Given the description of an element on the screen output the (x, y) to click on. 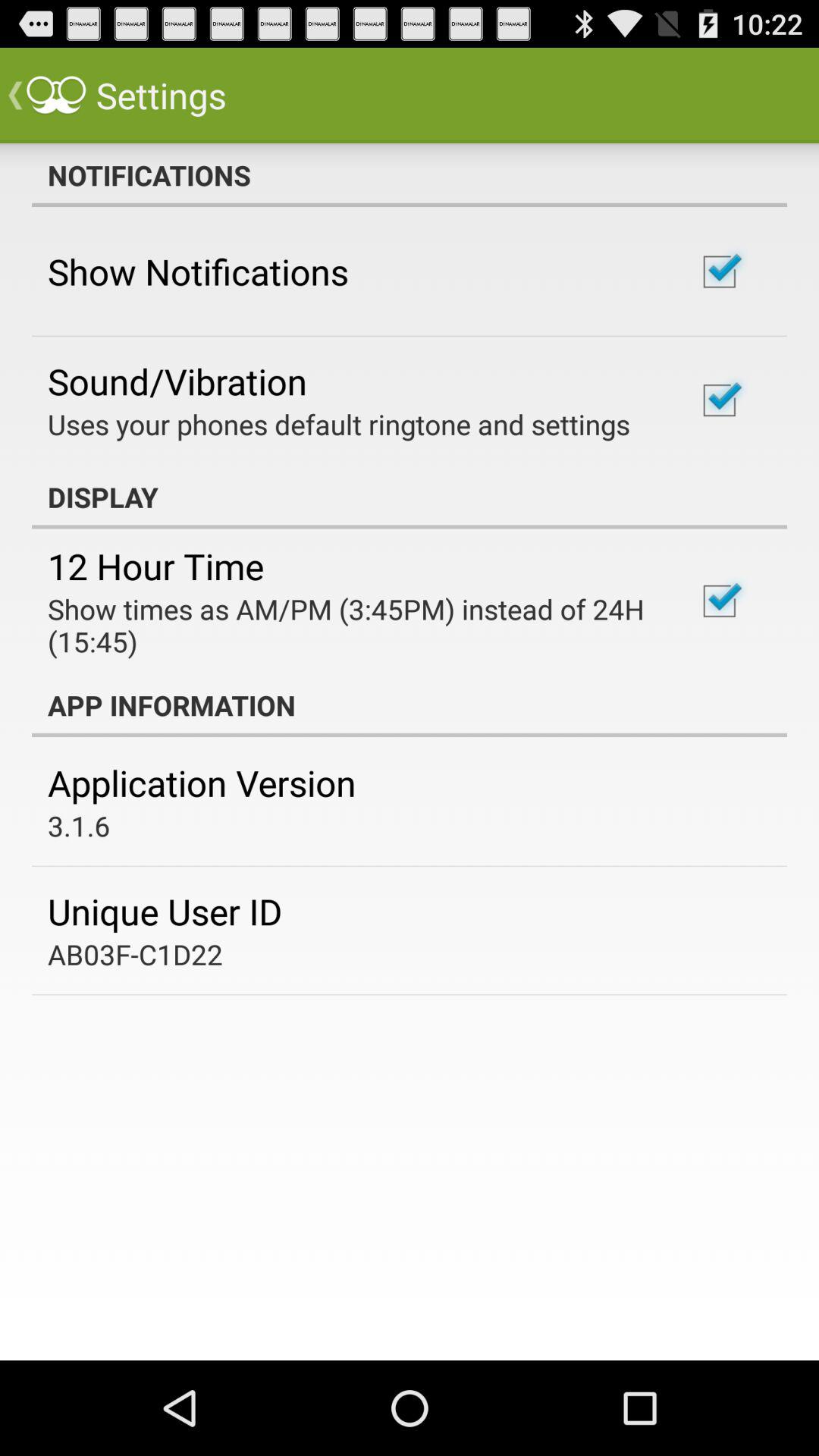
select app information (409, 705)
